Given the description of an element on the screen output the (x, y) to click on. 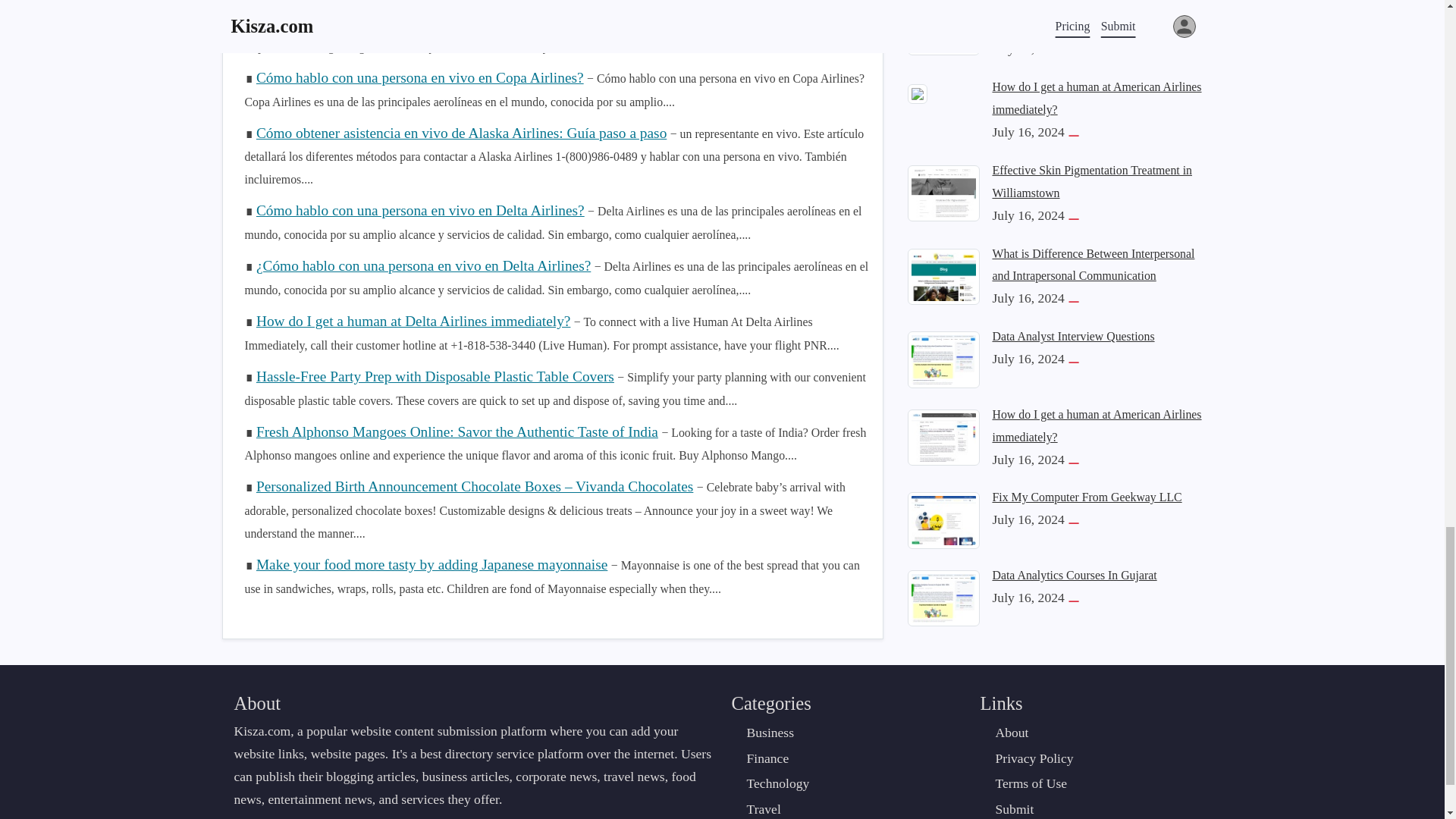
How do I get a human at Delta Airlines immediately? (413, 320)
Hassle-Free Party Prep with Disposable Plastic Table Covers (435, 376)
Make your food more tasty by adding Japanese mayonnaise (431, 564)
